Given the description of an element on the screen output the (x, y) to click on. 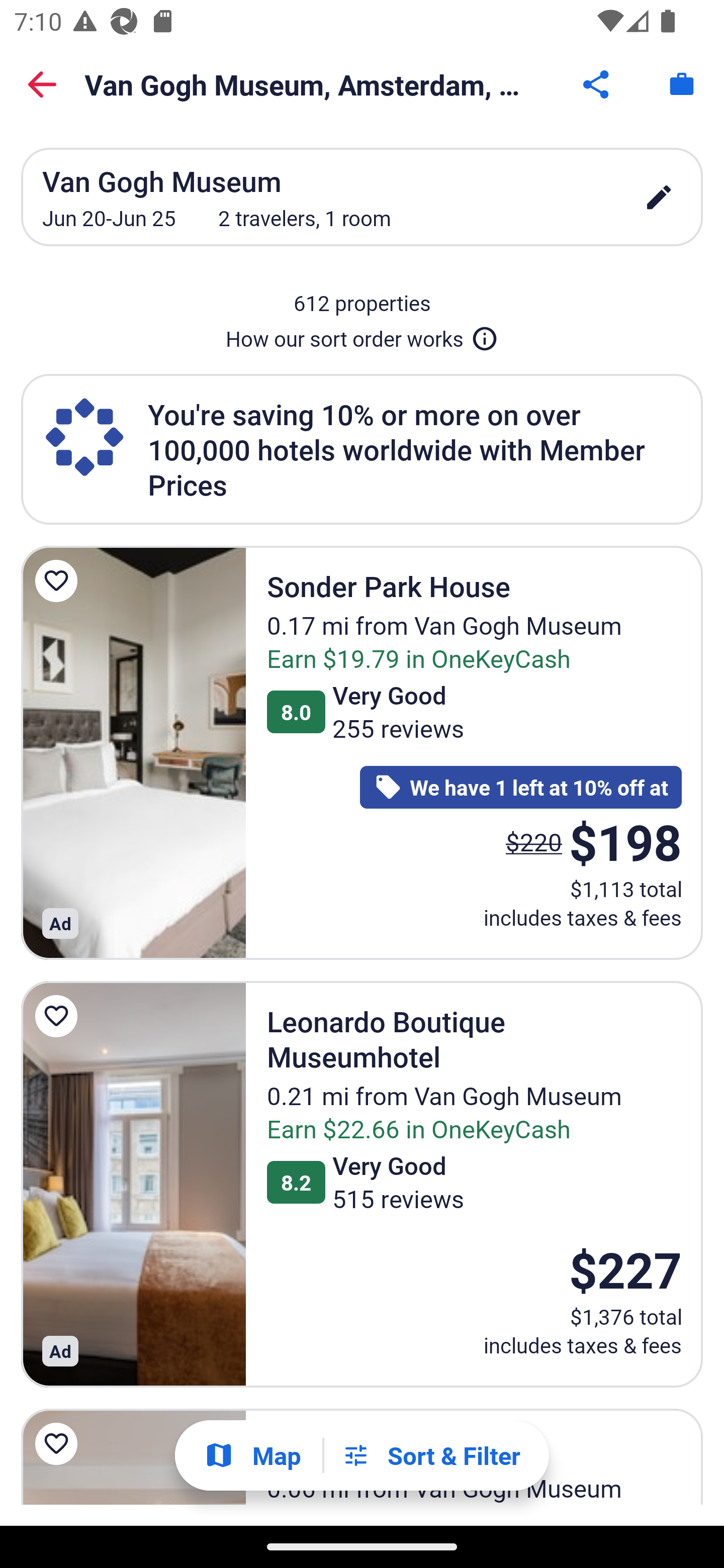
Back (42, 84)
Share Button (597, 84)
Trips. Button (681, 84)
How our sort order works (361, 334)
Save Sonder Park House to a trip (59, 580)
Sonder Park House (133, 752)
$220 The price was $220 (533, 841)
Save Leonardo Boutique Museumhotel to a trip (59, 1015)
Leonardo Boutique Museumhotel (133, 1184)
Save Hotel JL No76 to a trip (59, 1443)
Filters Sort & Filter Filters Button (430, 1455)
Show map Map Show map Button (252, 1455)
